Given the description of an element on the screen output the (x, y) to click on. 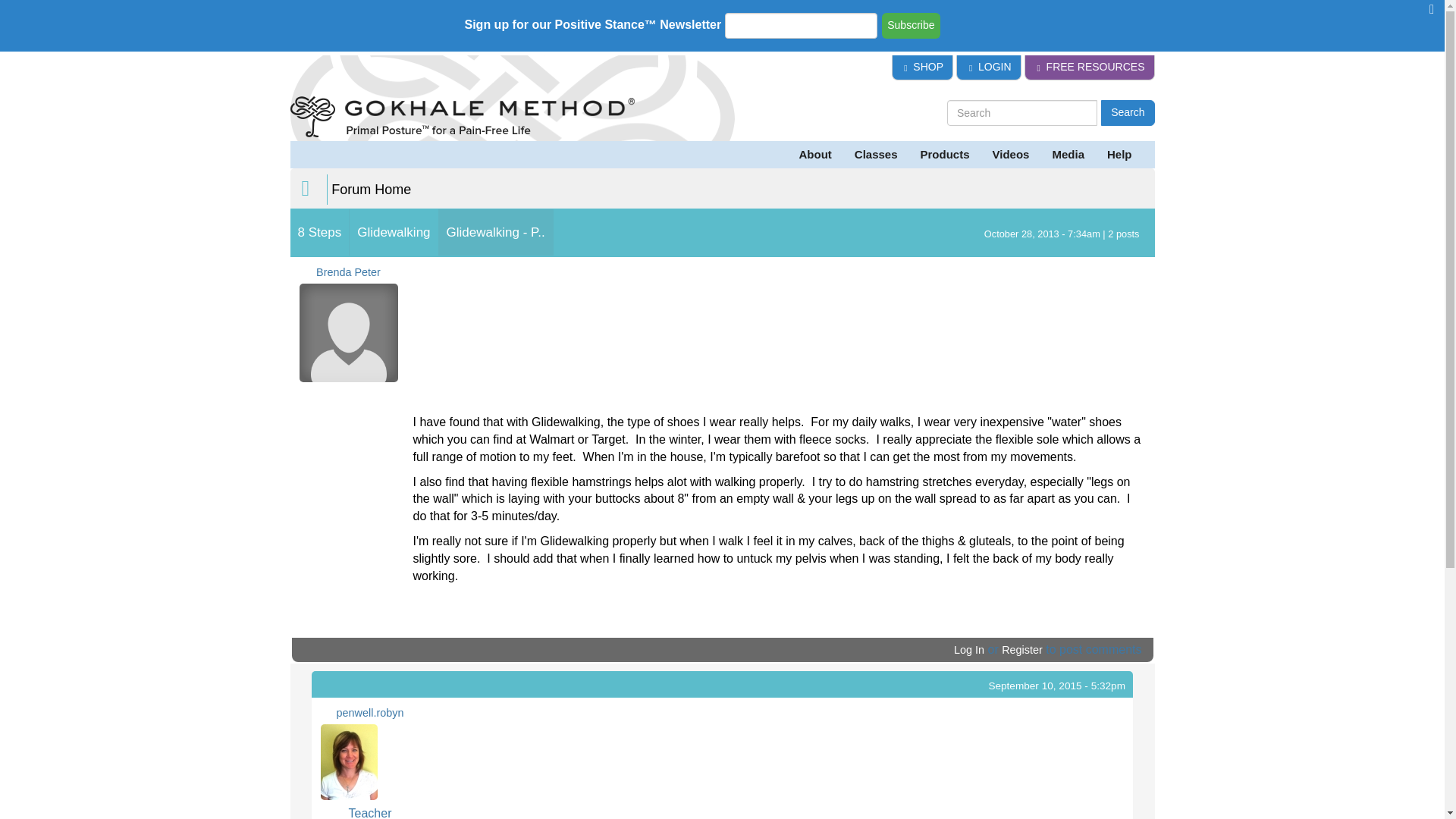
Classes Services (875, 154)
Subscribe (910, 25)
SHOP (922, 67)
Classes (875, 154)
LOGIN (988, 67)
About (815, 154)
Home (505, 119)
Search (1127, 112)
Products (944, 154)
Free Resources (1089, 67)
